Given the description of an element on the screen output the (x, y) to click on. 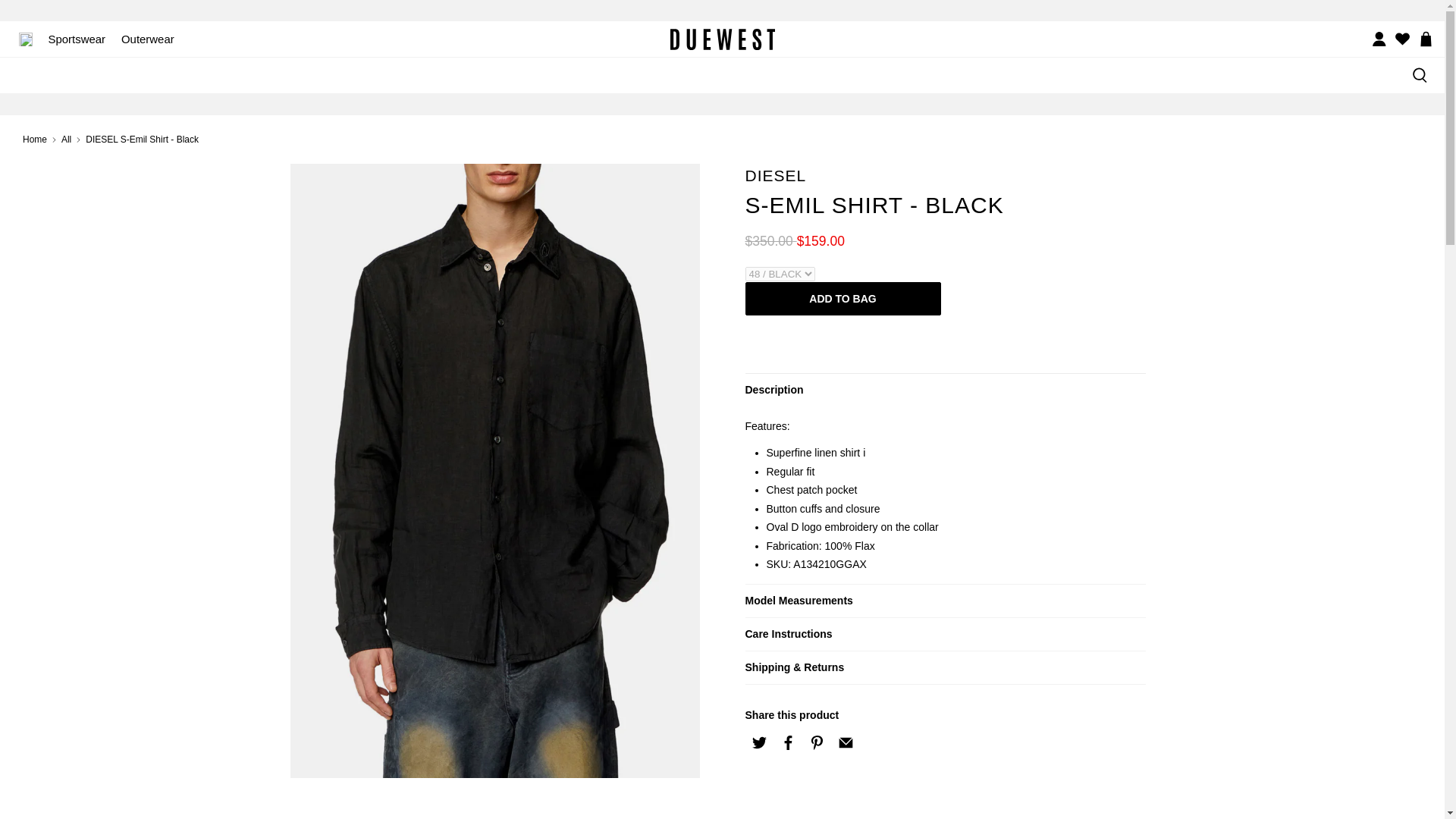
DIESEL (775, 175)
Due West (721, 38)
Email this to a friend (845, 742)
Due West (34, 139)
Share this on Facebook (787, 742)
Share this on Pinterest (816, 742)
DIESEL S-Emil Shirt - Black (493, 806)
Share this on Twitter (758, 742)
Outerwear (147, 38)
Sportswear (76, 38)
